Given the description of an element on the screen output the (x, y) to click on. 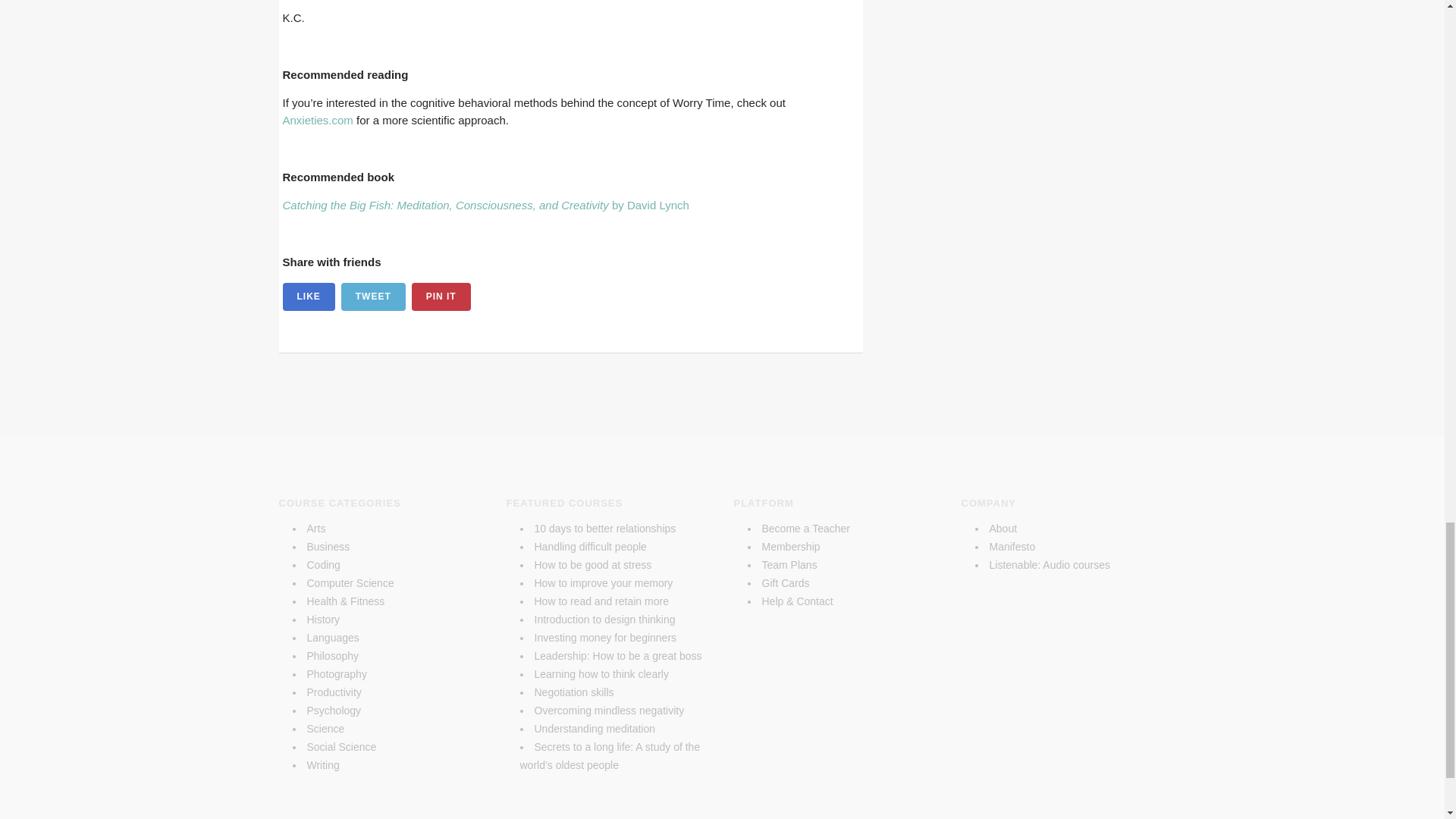
TWEET (373, 296)
History (322, 619)
PIN IT (441, 296)
Productivity (333, 692)
Photography (335, 674)
Business (327, 546)
Philosophy (331, 655)
Computer Science (349, 582)
Anxieties.com (317, 119)
Arts (314, 528)
LIKE (308, 296)
Languages (331, 637)
Coding (322, 564)
